Given the description of an element on the screen output the (x, y) to click on. 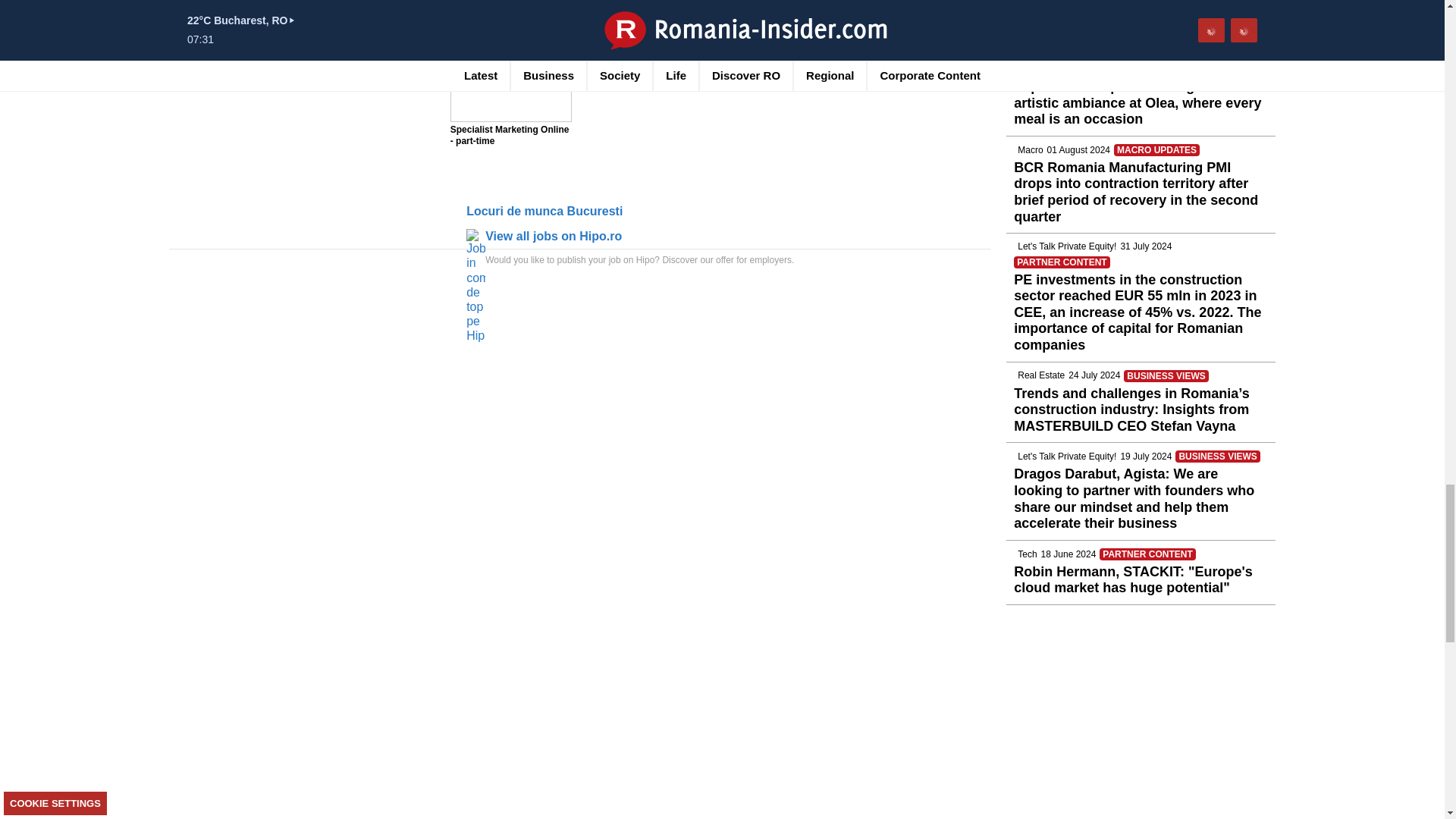
Specialist Marketing Online - part-time (510, 60)
INGINER RECEPTIE SERVICE - OTOPENI (236, 11)
Master Data Assistant (374, 11)
